Given the description of an element on the screen output the (x, y) to click on. 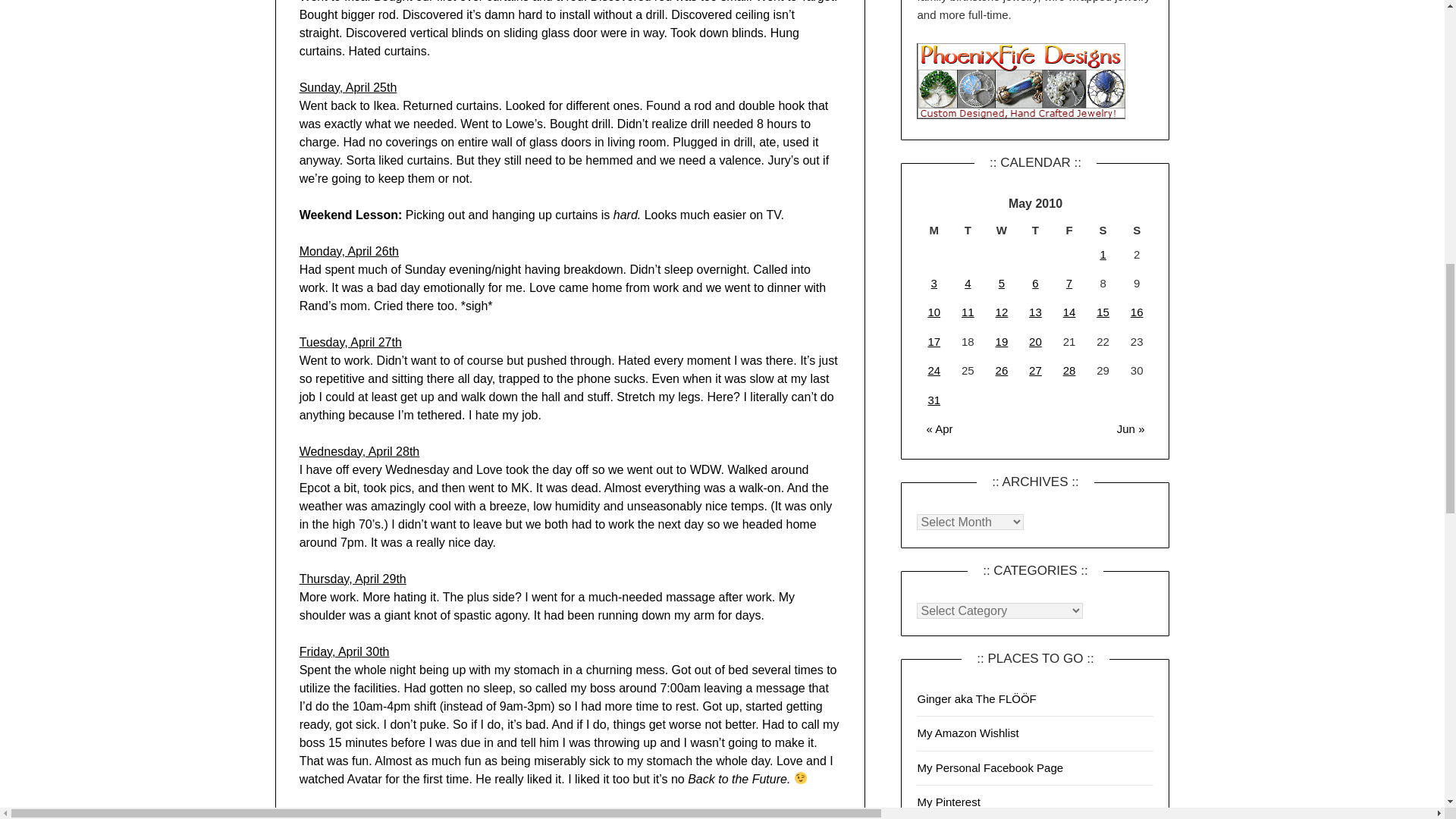
Tuesday (967, 230)
12 (1002, 311)
14 (1068, 311)
17 (933, 341)
15 (1102, 311)
16 (1136, 311)
Saturday (1102, 230)
11 (967, 311)
24 (933, 369)
10 (933, 311)
Monday (933, 230)
Sunday (1136, 230)
My personal facebook page (989, 767)
20 (1035, 341)
Friday (1069, 230)
